Given the description of an element on the screen output the (x, y) to click on. 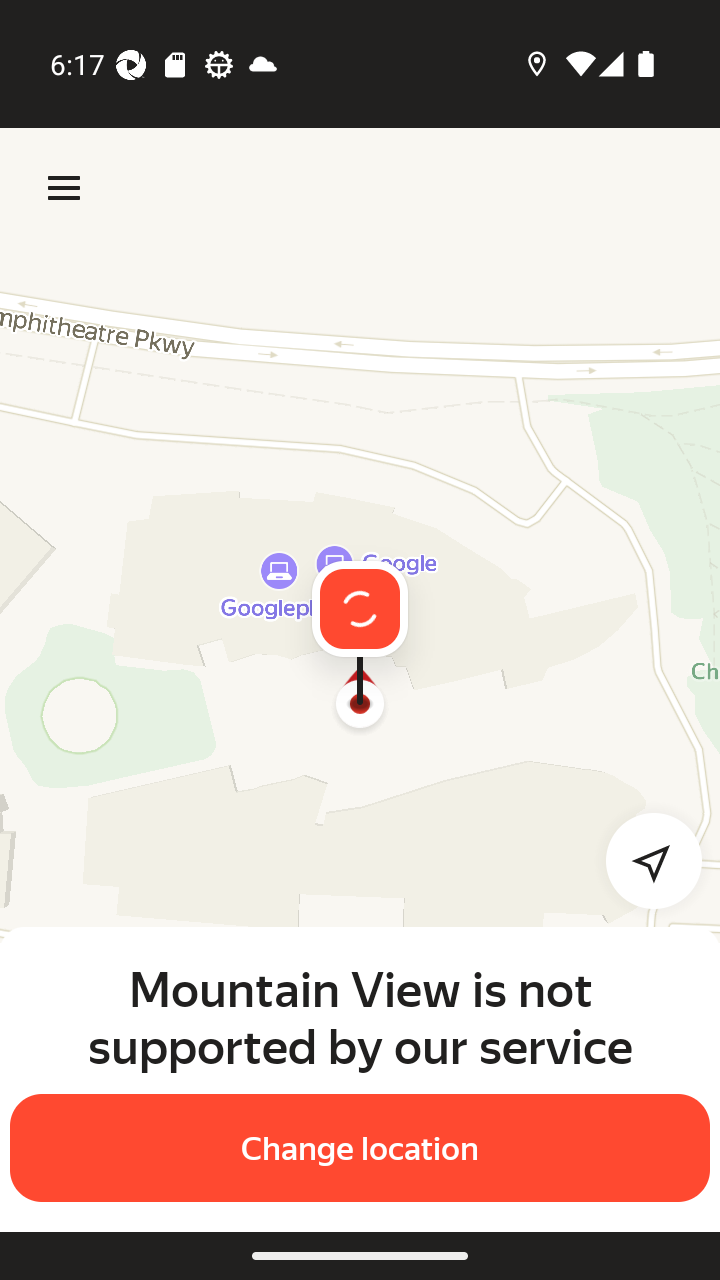
Menu Menu Menu (64, 188)
Detect my location (641, 860)
Mountain View is not supported by our service (360, 1017)
Change location (359, 1147)
